Given the description of an element on the screen output the (x, y) to click on. 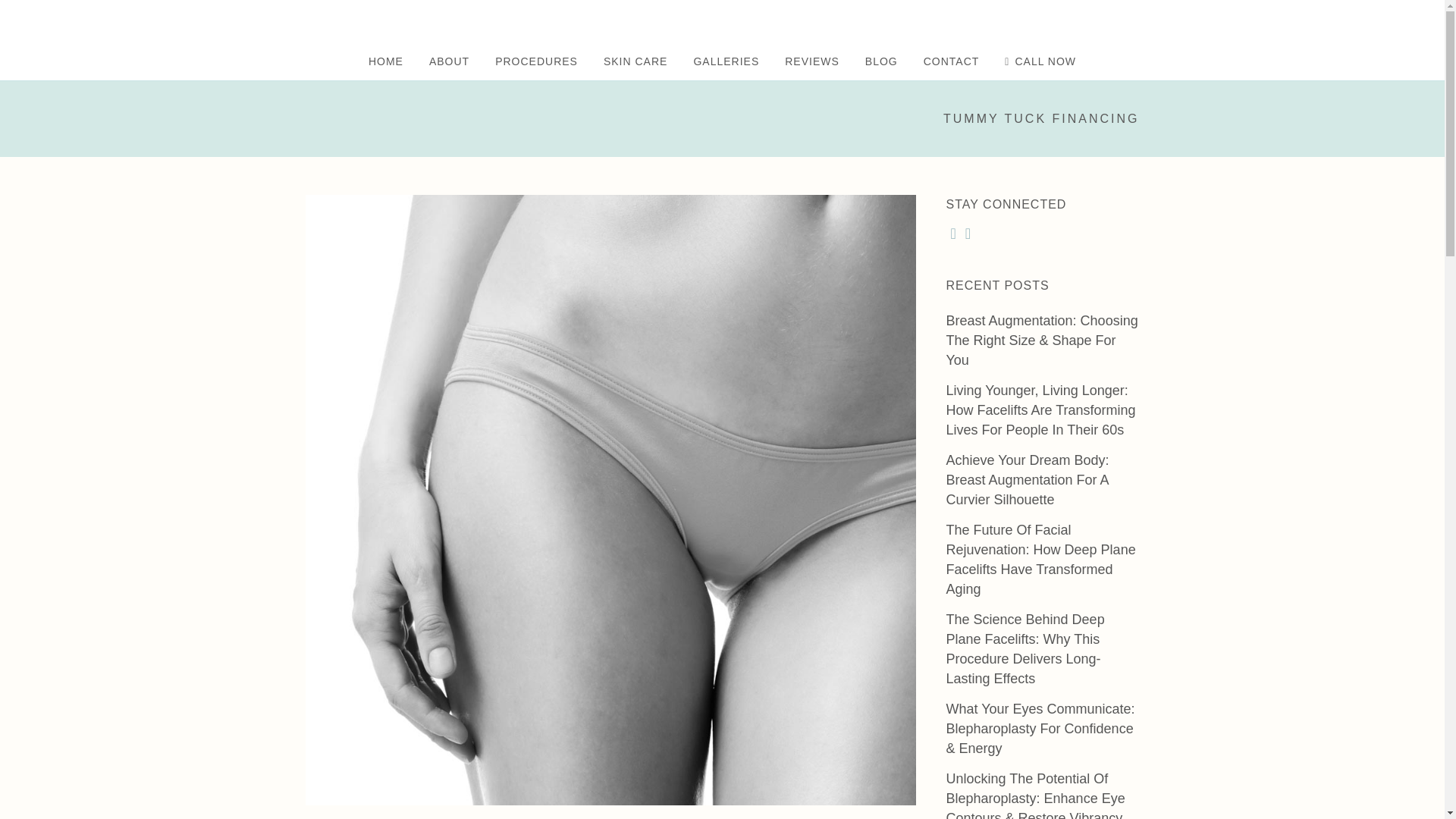
HOME (385, 61)
ABOUT (448, 61)
SKIN CARE (635, 61)
PROCEDURES (536, 61)
